Given the description of an element on the screen output the (x, y) to click on. 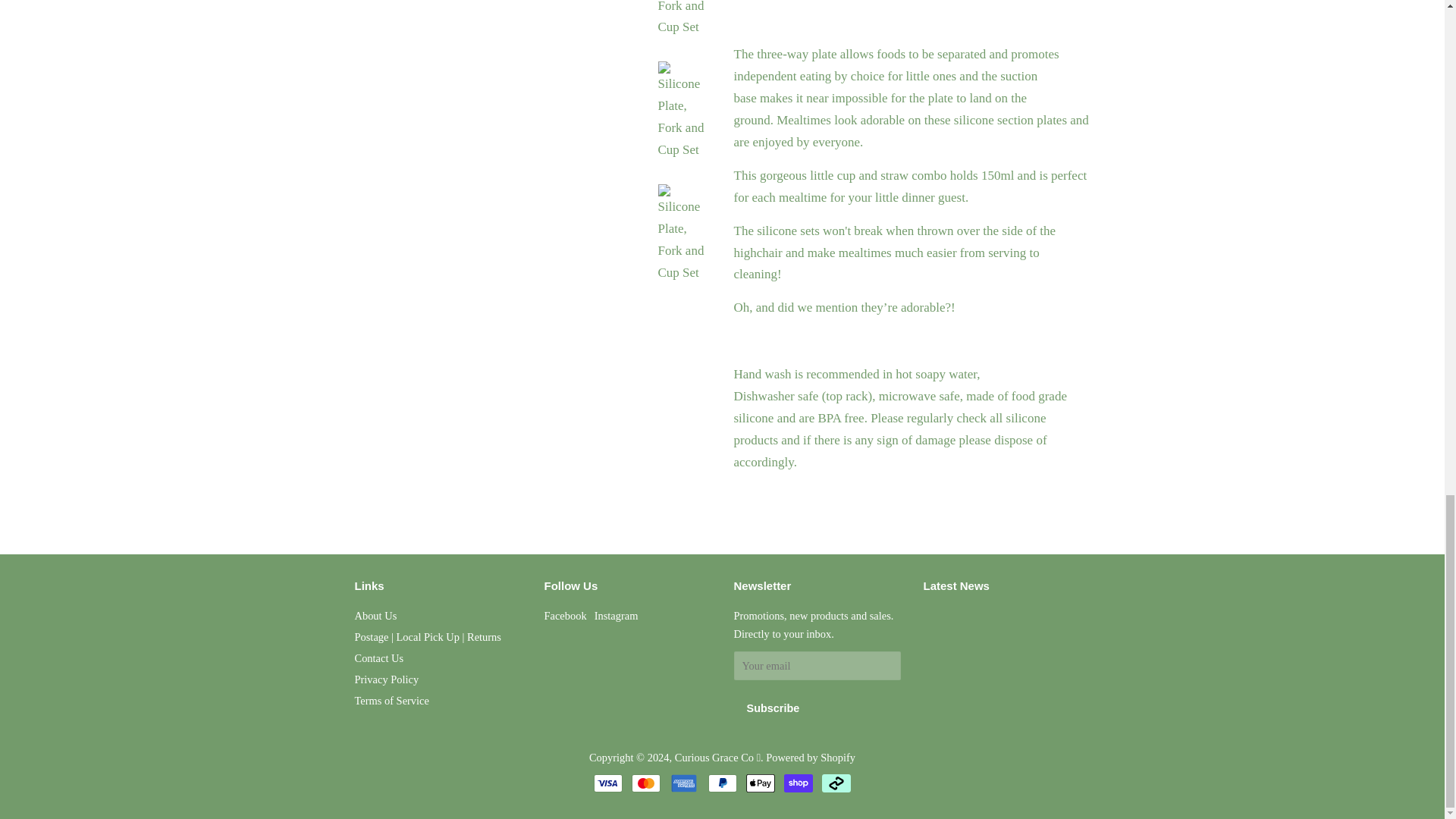
Mastercard (646, 782)
PayPal (721, 782)
Shop Pay (798, 782)
Apple Pay (759, 782)
Subscribe (772, 707)
Afterpay (836, 782)
Visa (608, 782)
